Given the description of an element on the screen output the (x, y) to click on. 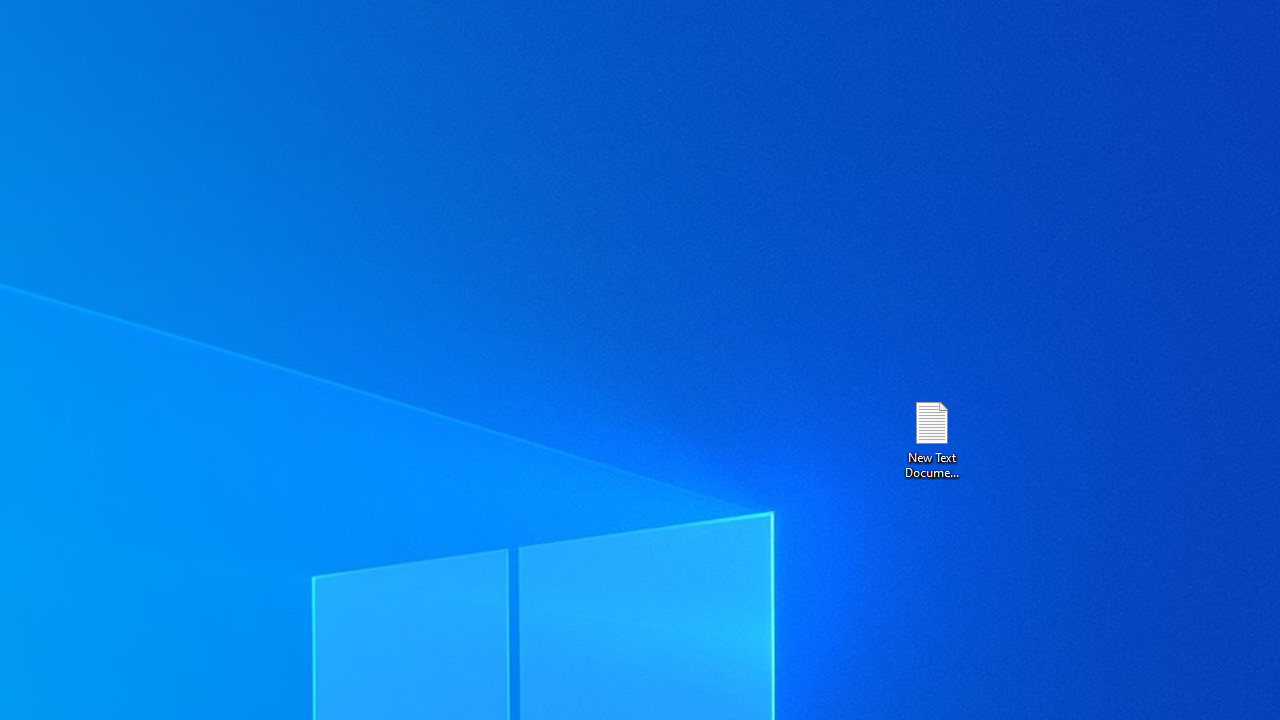
New Text Document (2) (931, 438)
